Given the description of an element on the screen output the (x, y) to click on. 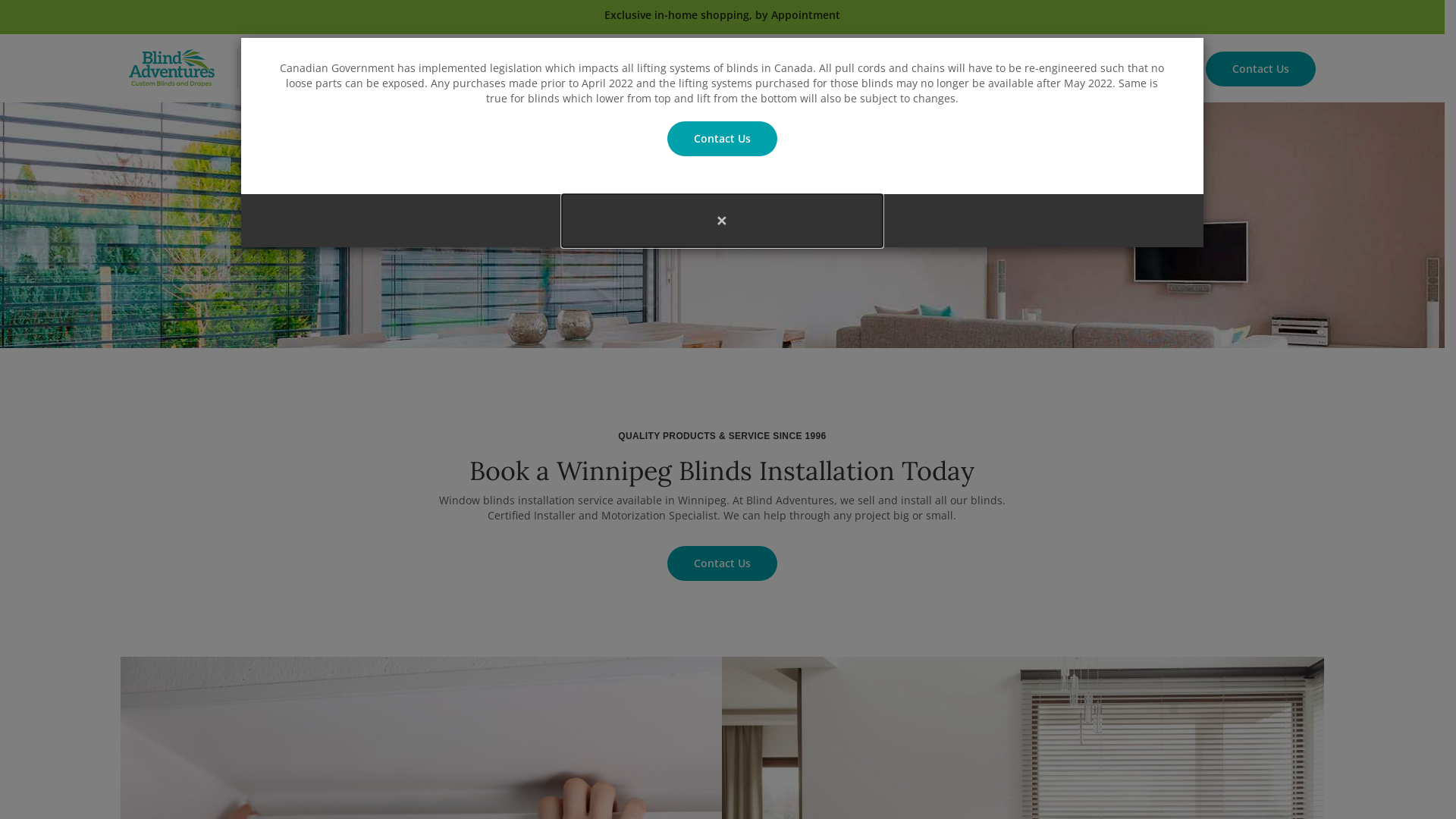
Contact Information Request Element type: text (34, 123)
PRODUCT Element type: text (357, 68)
ABOUT Element type: text (282, 68)
Contact Us Element type: text (722, 138)
Contact Us Element type: text (722, 563)
SOLUTIONS Element type: text (528, 68)
COTTAGE COUNTRY Element type: text (638, 68)
SERVICES Element type: text (440, 68)
Blind Adventures Element type: text (171, 66)
Contact Us Element type: text (1260, 68)
